Given the description of an element on the screen output the (x, y) to click on. 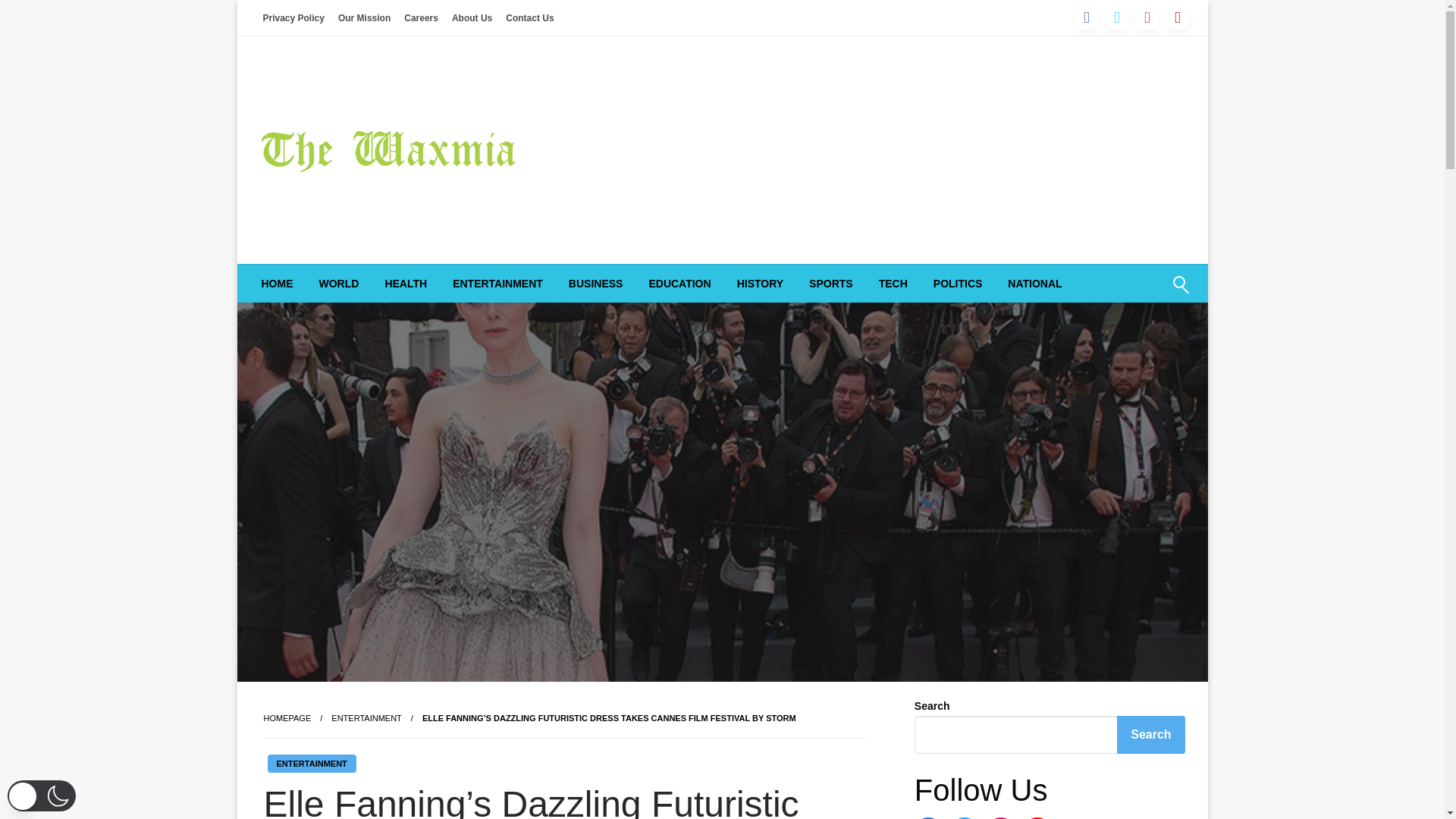
About Us (472, 17)
WaxMia (310, 215)
Advertisement (882, 150)
HOME (276, 283)
HISTORY (759, 283)
TECH (893, 283)
Contact Us (529, 17)
Privacy Policy (293, 17)
ENTERTAINMENT (310, 763)
HOMEPAGE (287, 717)
